Given the description of an element on the screen output the (x, y) to click on. 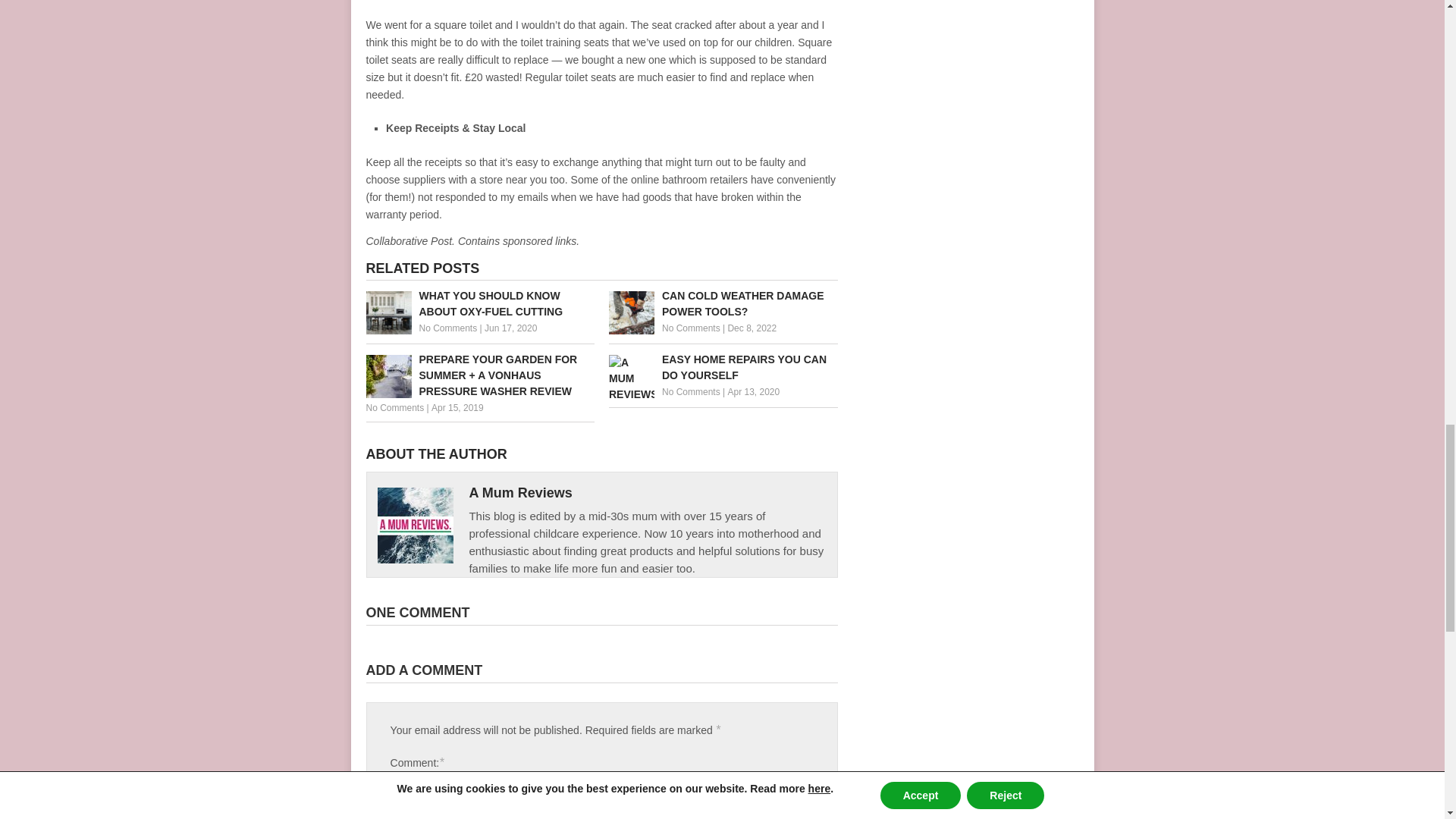
What You Should Know About Oxy-Fuel Cutting (479, 304)
Easy Home Repairs You Can Do Yourself (723, 368)
Can Cold Weather Damage Power Tools? (723, 304)
